Given the description of an element on the screen output the (x, y) to click on. 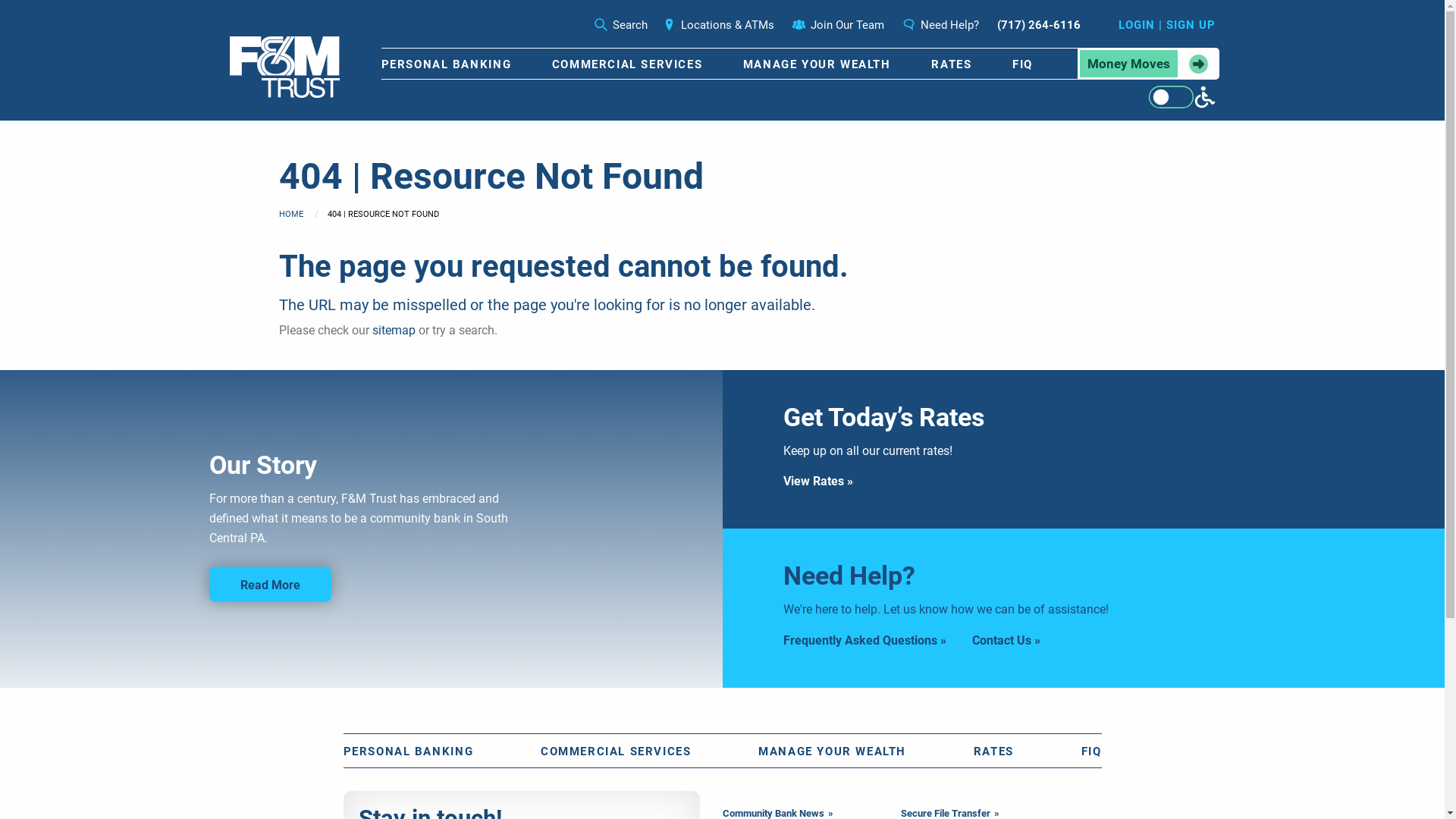
PERSONAL BANKING Element type: text (407, 751)
MANAGE YOUR WEALTH Element type: text (832, 751)
COMMERCIAL SERVICES Element type: text (627, 63)
Locations & ATMs Element type: text (718, 24)
FIQ Element type: text (1022, 63)
Join Our Team Element type: text (837, 24)
MANAGE YOUR WEALTH Element type: text (817, 63)
FIQ Element type: text (1091, 751)
RATES Element type: text (951, 63)
SIGN UP Element type: text (1190, 24)
Search Element type: text (620, 24)
RATES Element type: text (993, 751)
COMMERCIAL SERVICES Element type: text (615, 751)
LOGIN Element type: text (1135, 24)
(717) 264-6116 Element type: text (1037, 24)
sitemap Element type: text (392, 330)
HOME Element type: text (291, 214)
Money Moves Element type: text (1147, 63)
PERSONAL BANKING Element type: text (445, 63)
Read More Element type: text (270, 584)
Need Help? Element type: text (940, 24)
